Given the description of an element on the screen output the (x, y) to click on. 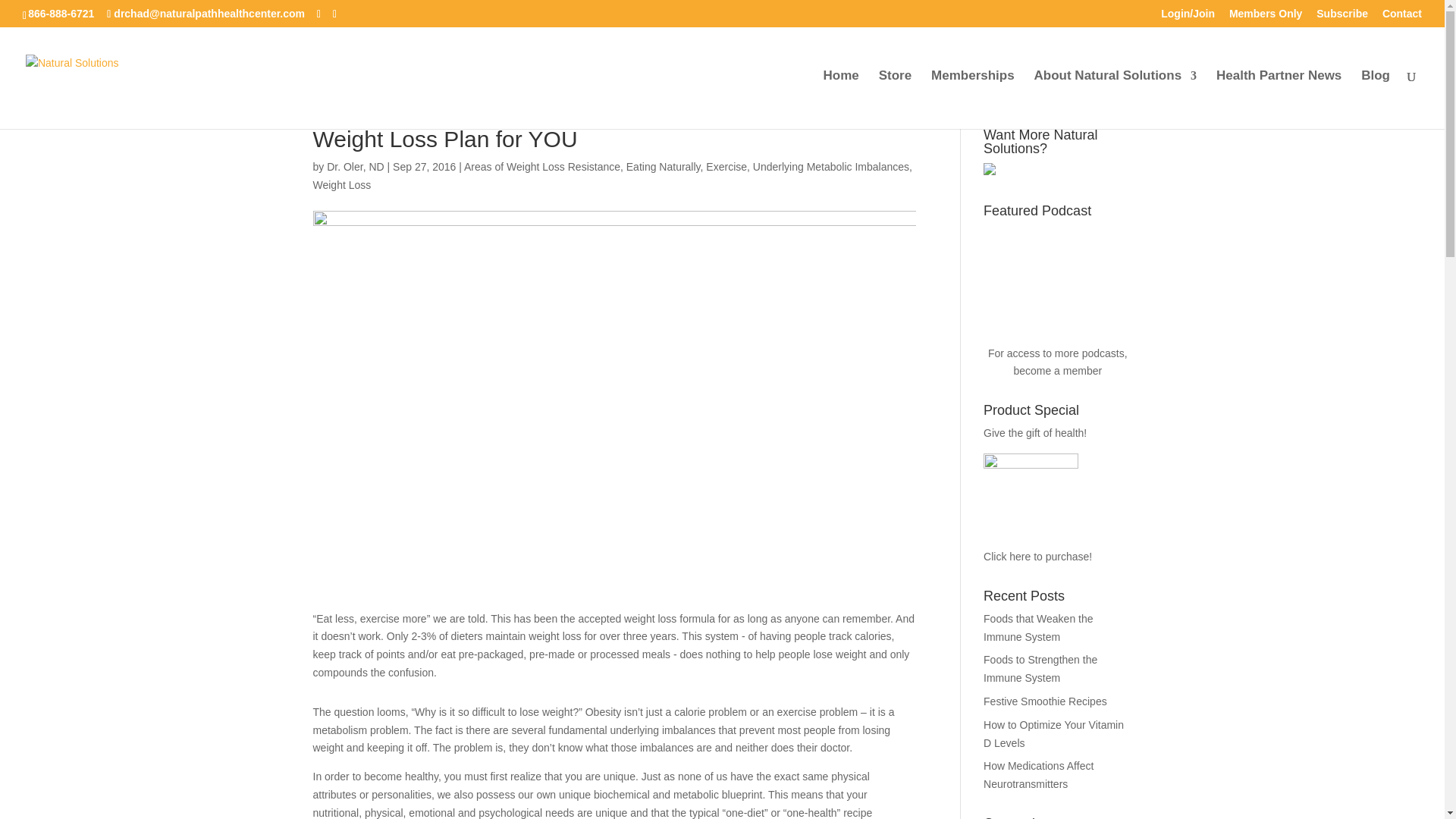
Click here to purchase! (1038, 510)
Dr. Oler, ND (355, 166)
Exercise (726, 166)
Foods that Weaken the Immune System (1038, 627)
How Medications Affect Neurotransmitters (1038, 775)
Eating Naturally (663, 166)
How to Optimize Your Vitamin D Levels (1054, 734)
Subscribe (1342, 16)
Weight Loss (342, 184)
Underlying Metabolic Imbalances (830, 166)
